Given the description of an element on the screen output the (x, y) to click on. 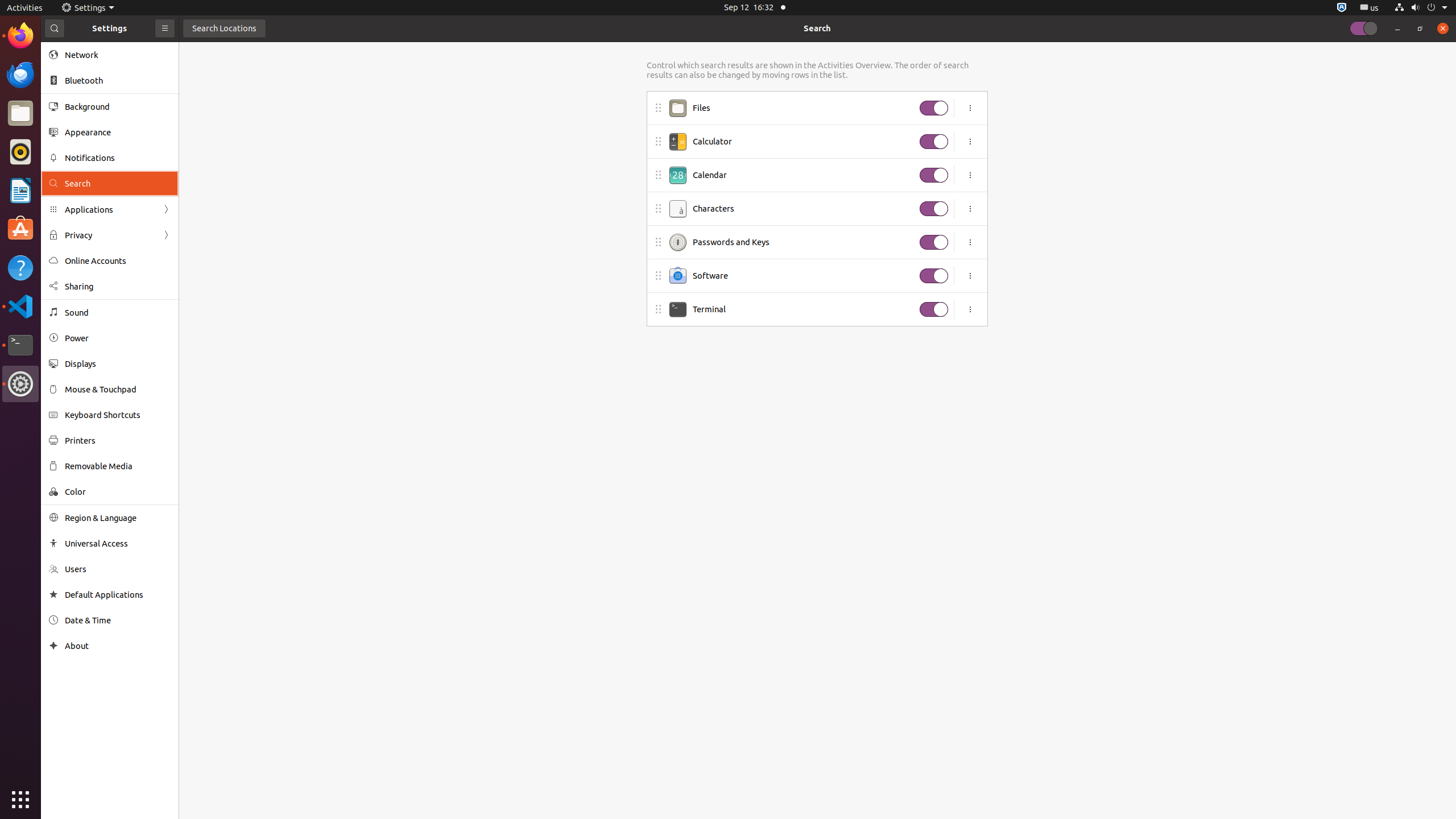
Keyboard Shortcuts Element type: label (117, 414)
Date & Time Element type: label (117, 620)
Universal Access Element type: label (117, 543)
Printers Element type: label (117, 440)
About Element type: label (117, 645)
